Given the description of an element on the screen output the (x, y) to click on. 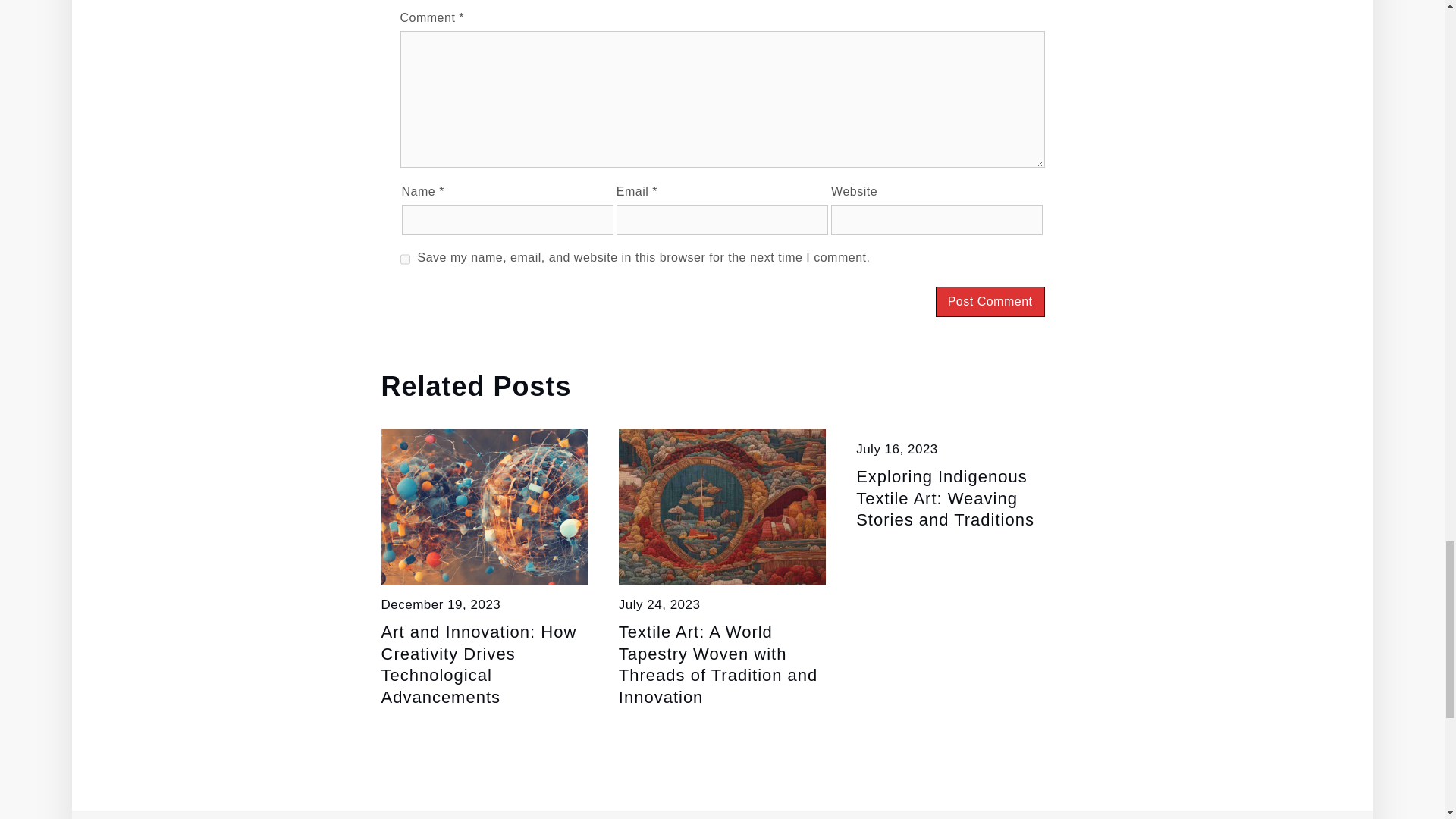
Post Comment (990, 301)
July 24, 2023 (659, 604)
Post Comment (990, 301)
yes (405, 259)
December 19, 2023 (440, 604)
July 16, 2023 (896, 449)
